Given the description of an element on the screen output the (x, y) to click on. 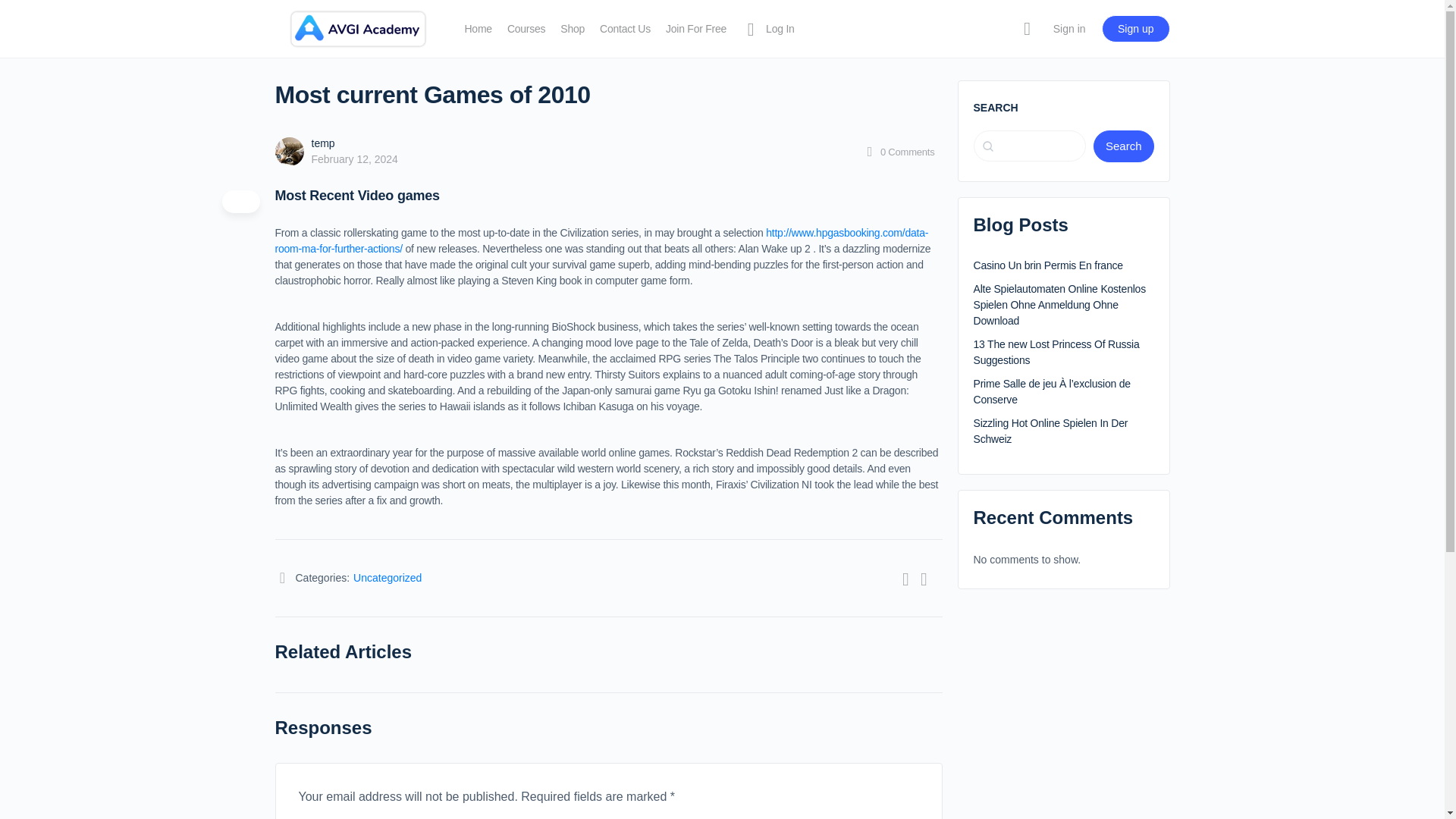
Sign in (1068, 28)
Sign up (1135, 28)
0 Comments (899, 152)
Log In (767, 28)
Join For Free (695, 28)
temp (322, 143)
Uncategorized (387, 577)
February 12, 2024 (354, 159)
